Given the description of an element on the screen output the (x, y) to click on. 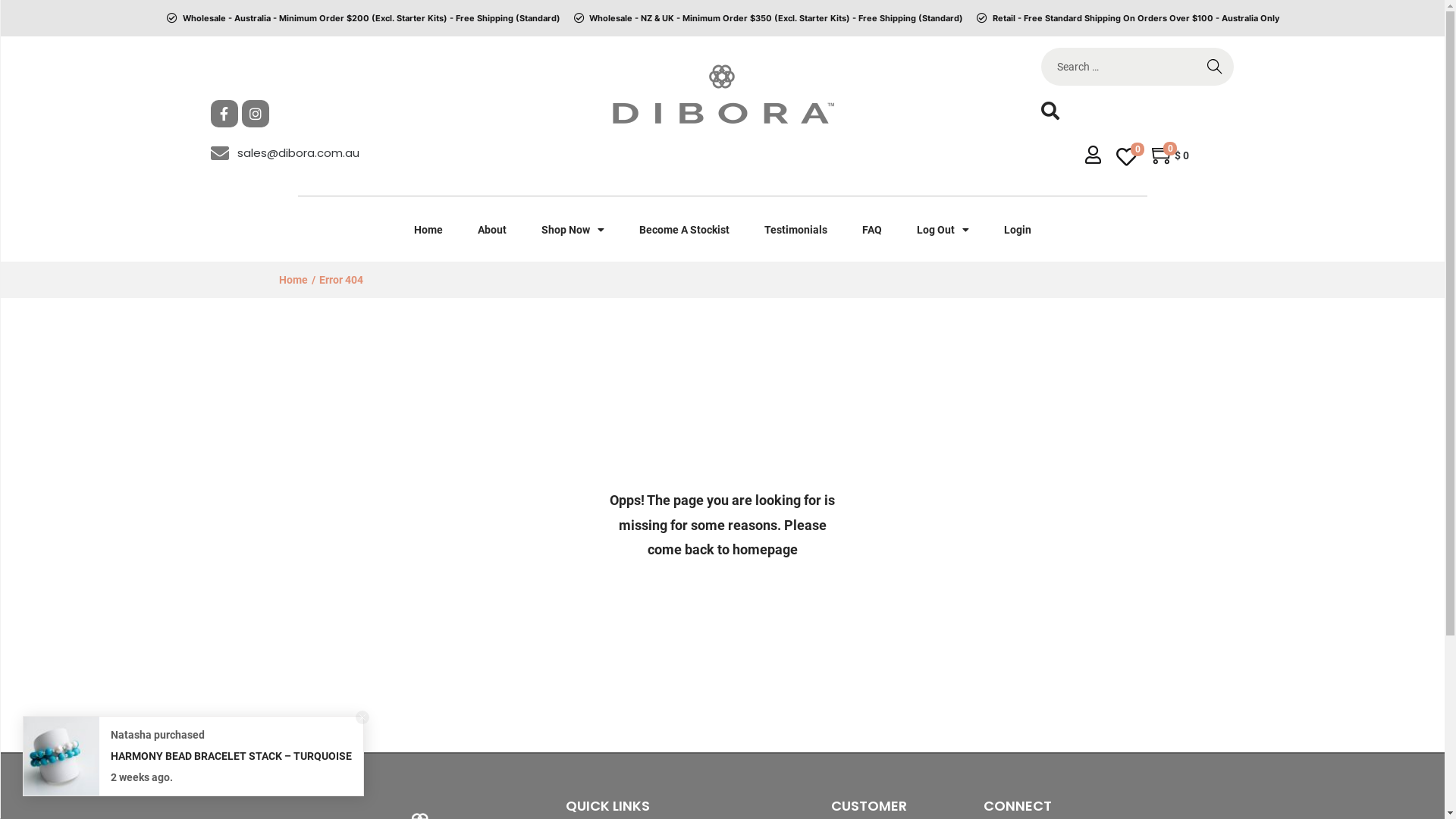
Login Element type: text (1016, 229)
Log Out Element type: text (942, 229)
Shop Now Element type: text (572, 229)
Home Element type: text (427, 229)
Search Element type: text (950, 428)
Search Element type: text (1214, 66)
0 Element type: text (1126, 157)
Home Element type: text (293, 279)
sales@dibora.com.au Element type: text (327, 152)
FAQ Element type: text (871, 229)
About Element type: text (491, 229)
0 Element type: text (1162, 155)
Testimonials Element type: text (795, 229)
Become A Stockist Element type: text (683, 229)
